Given the description of an element on the screen output the (x, y) to click on. 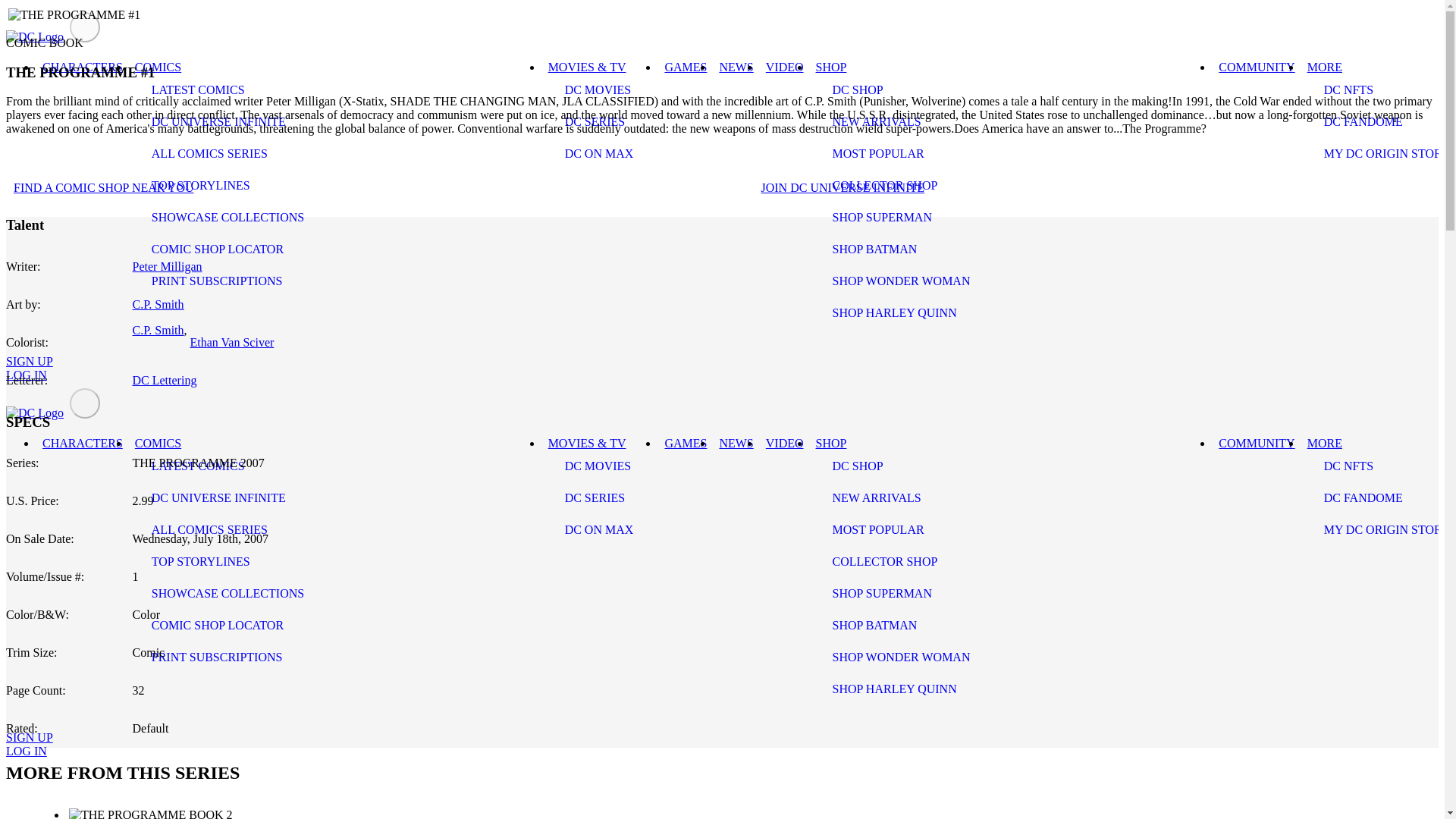
VIDEO (784, 66)
GAMES (685, 66)
COMMUNITY (1256, 66)
SHOP (831, 66)
NEWS (735, 66)
SIGN UP (28, 360)
COMICS (158, 66)
Open search (25, 718)
CHARACTERS (82, 66)
